Given the description of an element on the screen output the (x, y) to click on. 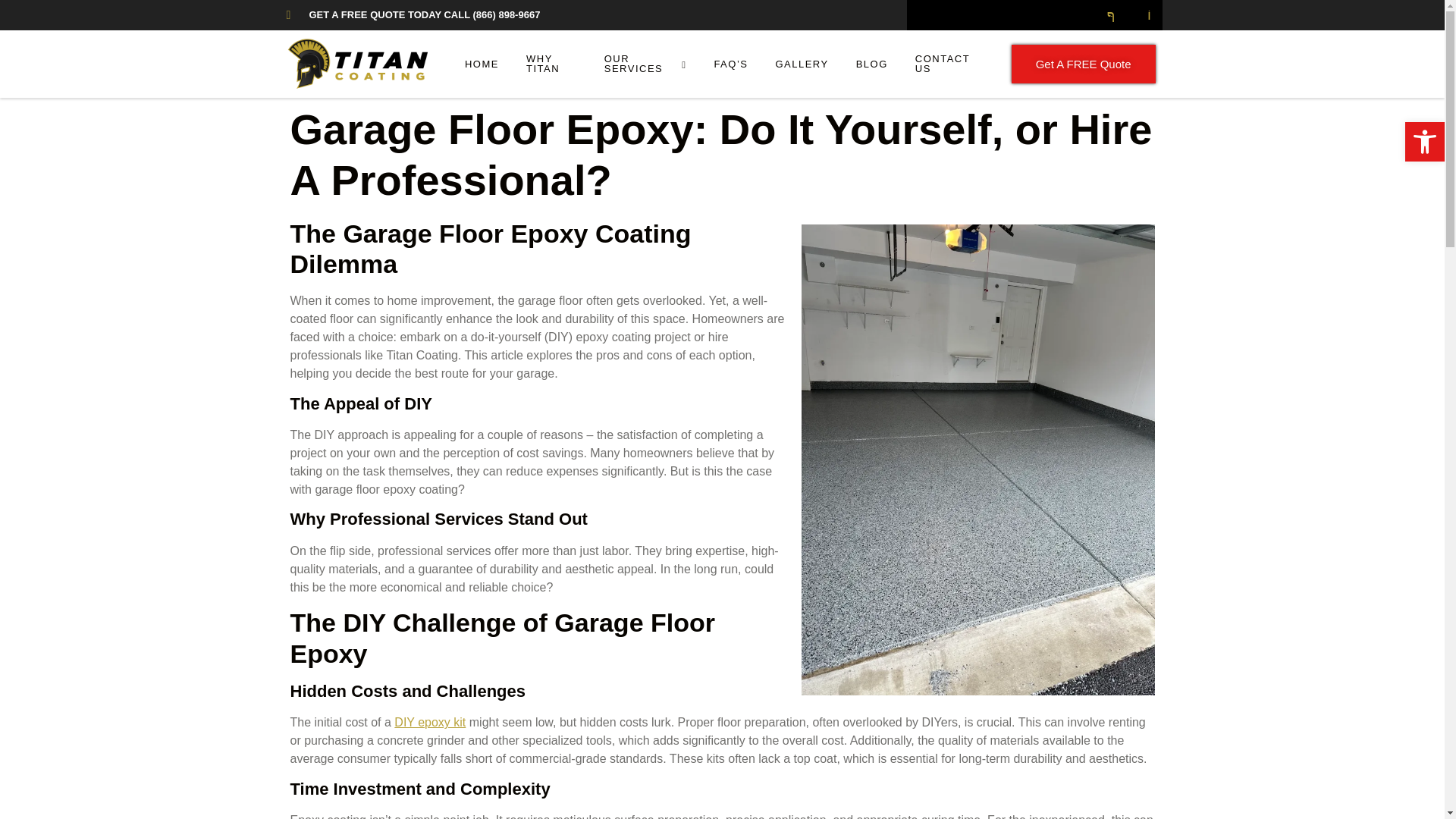
CONTACT US (944, 63)
Get A FREE Quote (1083, 64)
DIY epoxy kit (429, 721)
OUR SERVICES (645, 63)
GALLERY (801, 63)
Accessibility Tools (1424, 141)
WHY TITAN (551, 63)
HOME (481, 63)
BLOG (872, 63)
